Given the description of an element on the screen output the (x, y) to click on. 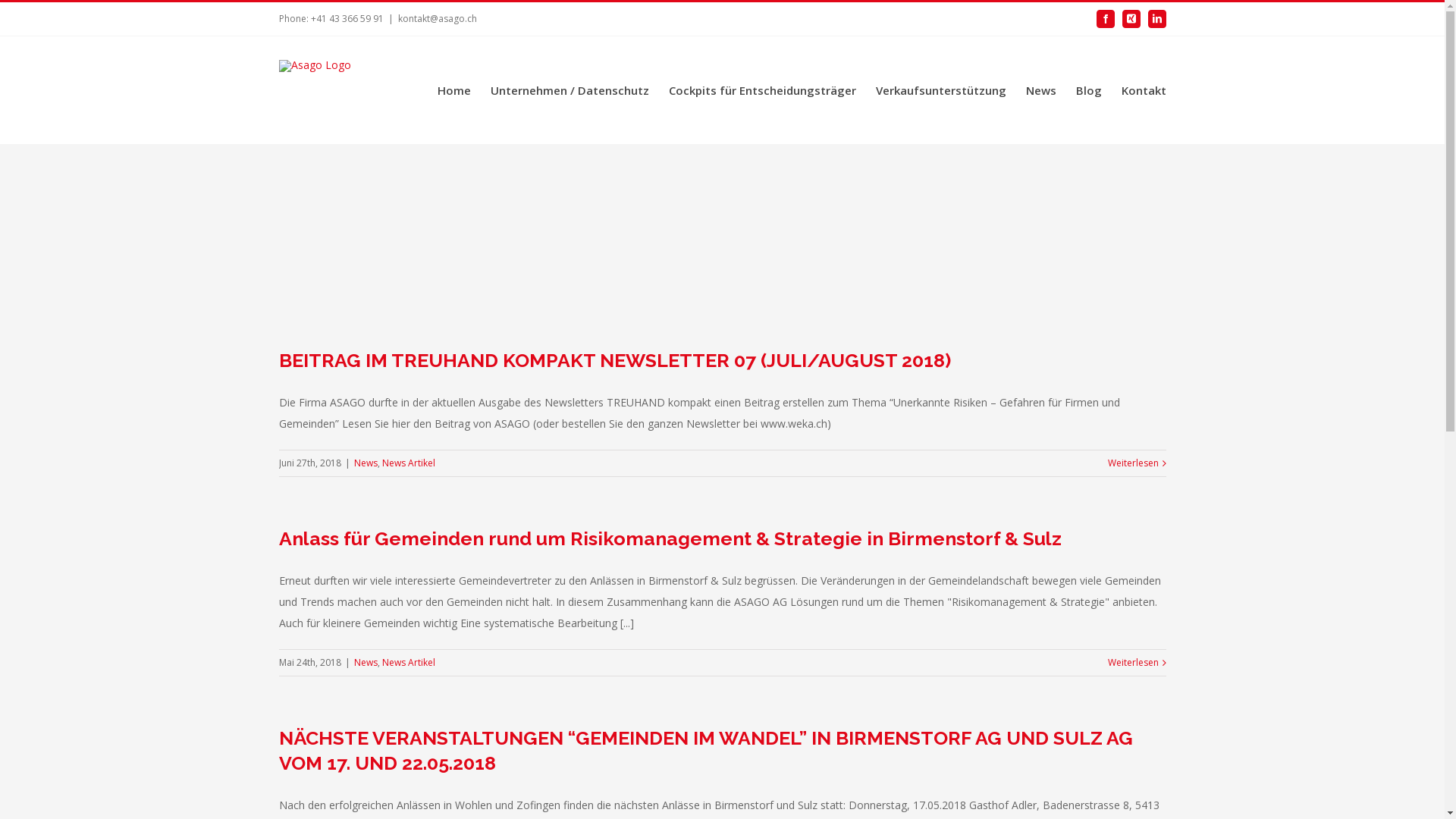
BEITRAG IM TREUHAND KOMPAKT NEWSLETTER 07 (JULI/AUGUST 2018) Element type: text (614, 359)
Xing Element type: text (1131, 18)
LinkedIn Element type: text (1157, 18)
Unternehmen / Datenschutz Element type: text (568, 90)
Home Element type: text (453, 90)
News Element type: text (1040, 90)
Weiterlesen Element type: text (1132, 662)
Facebook Element type: text (1105, 18)
News Element type: text (364, 661)
Blog Element type: text (1088, 90)
News Element type: text (364, 462)
News Artikel Element type: text (408, 661)
News Artikel Element type: text (408, 462)
kontakt@asago.ch Element type: text (436, 18)
Weiterlesen Element type: text (1132, 463)
Kontakt Element type: text (1142, 90)
